Given the description of an element on the screen output the (x, y) to click on. 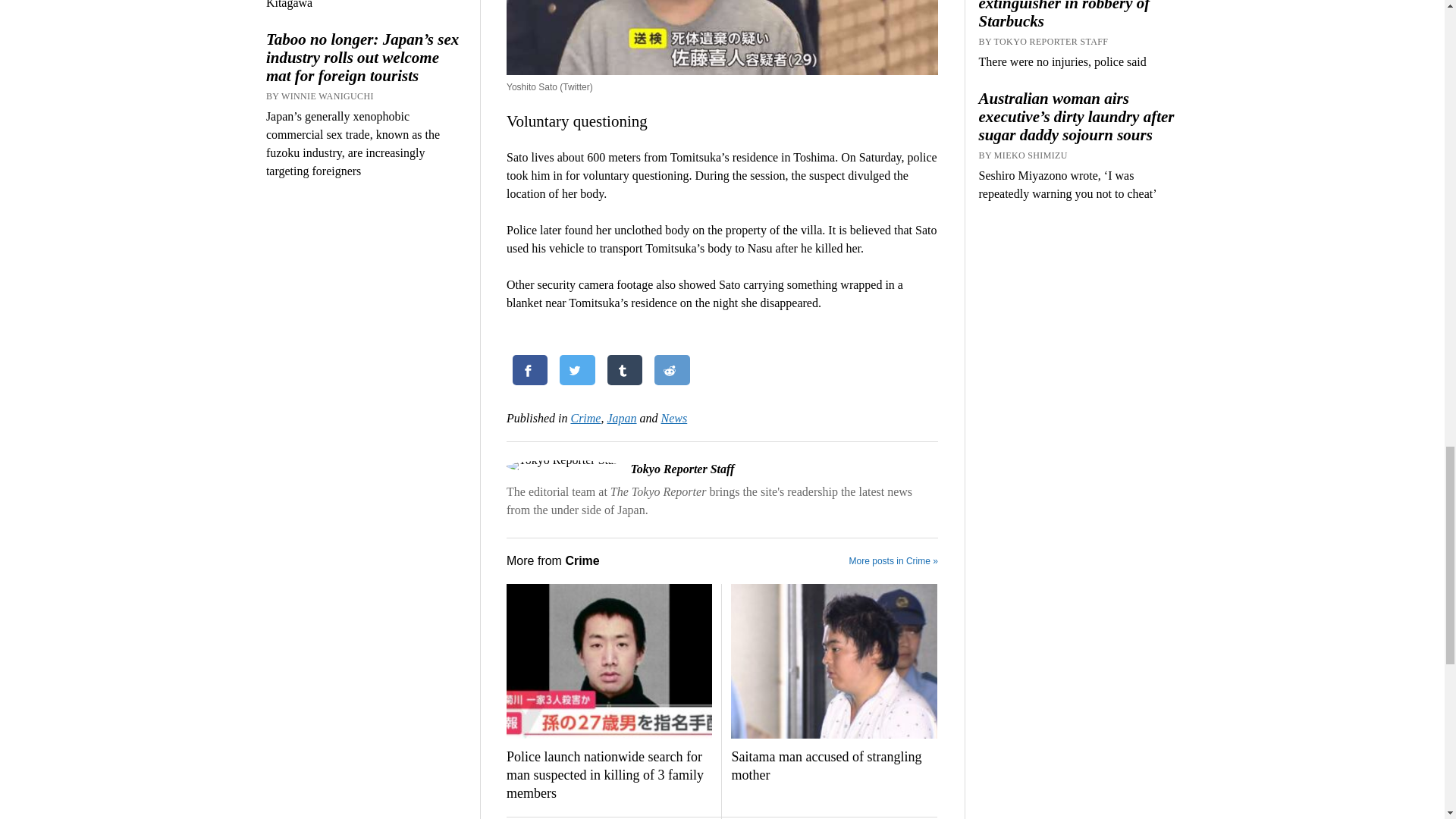
View all posts in Japan (621, 418)
View all posts in Crime (584, 418)
View all posts in News (674, 418)
